Given the description of an element on the screen output the (x, y) to click on. 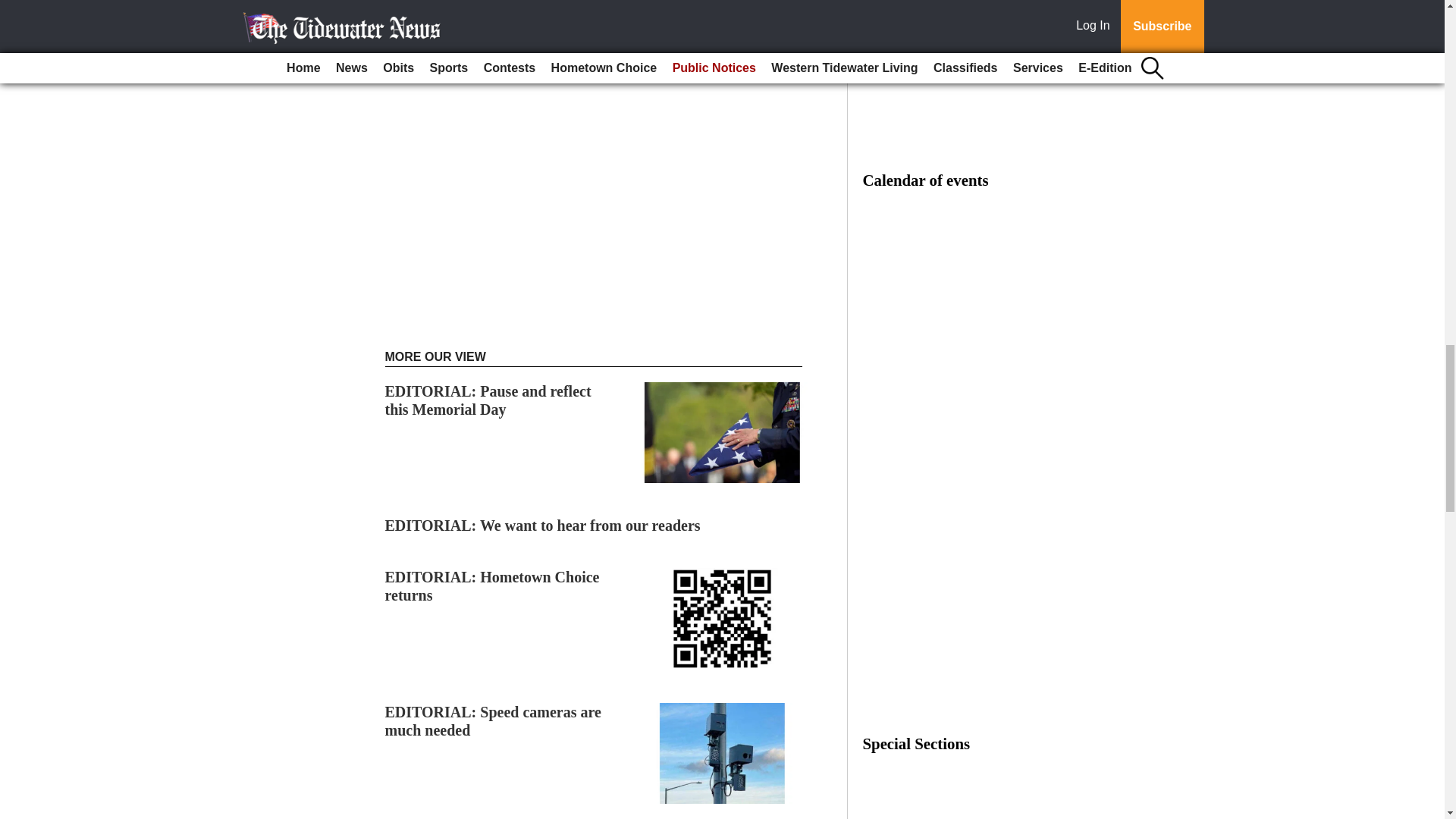
EDITORIAL: Hometown Choice returns (492, 585)
EDITORIAL: Pause and reflect this Memorial Day (488, 400)
EDITORIAL: Speed cameras are much needed (493, 720)
EDITORIAL: Pause and reflect this Memorial Day (488, 400)
EDITORIAL: Hometown Choice returns (492, 585)
EDITORIAL: We want to hear from our readers (542, 524)
EDITORIAL: We want to hear from our readers (542, 524)
